Given the description of an element on the screen output the (x, y) to click on. 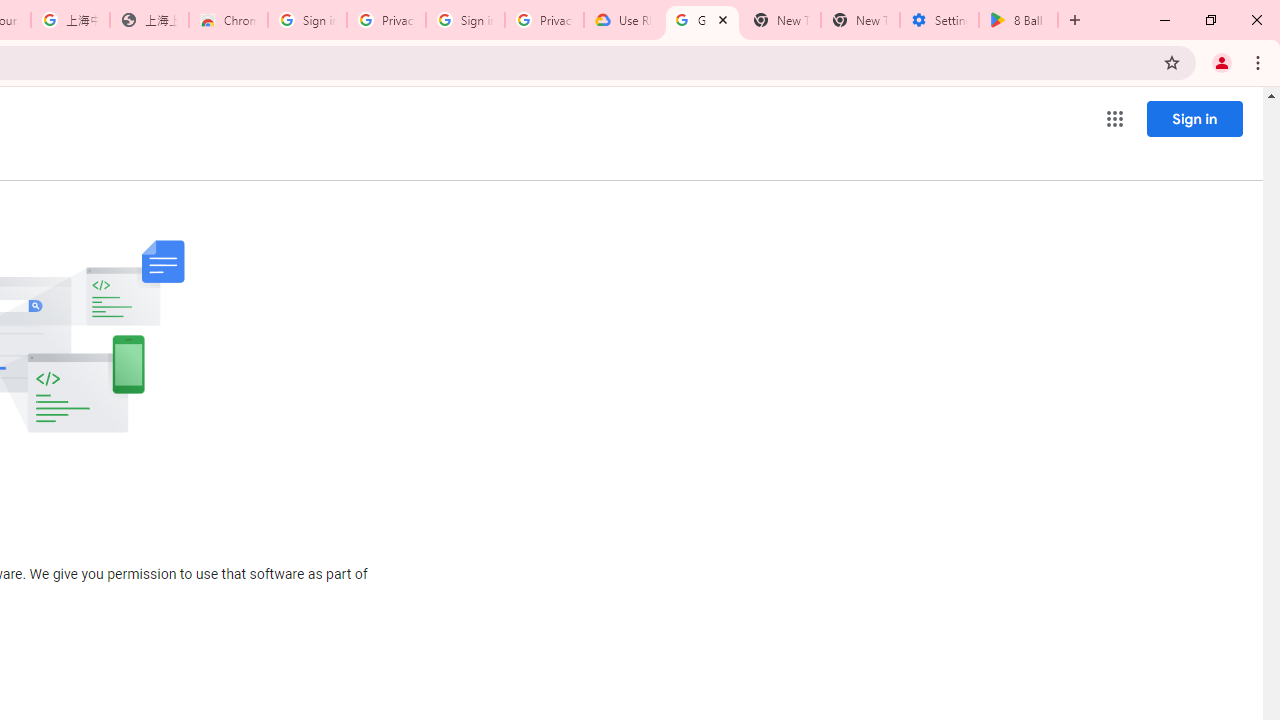
Settings - System (939, 20)
8 Ball Pool - Apps on Google Play (1018, 20)
